Given the description of an element on the screen output the (x, y) to click on. 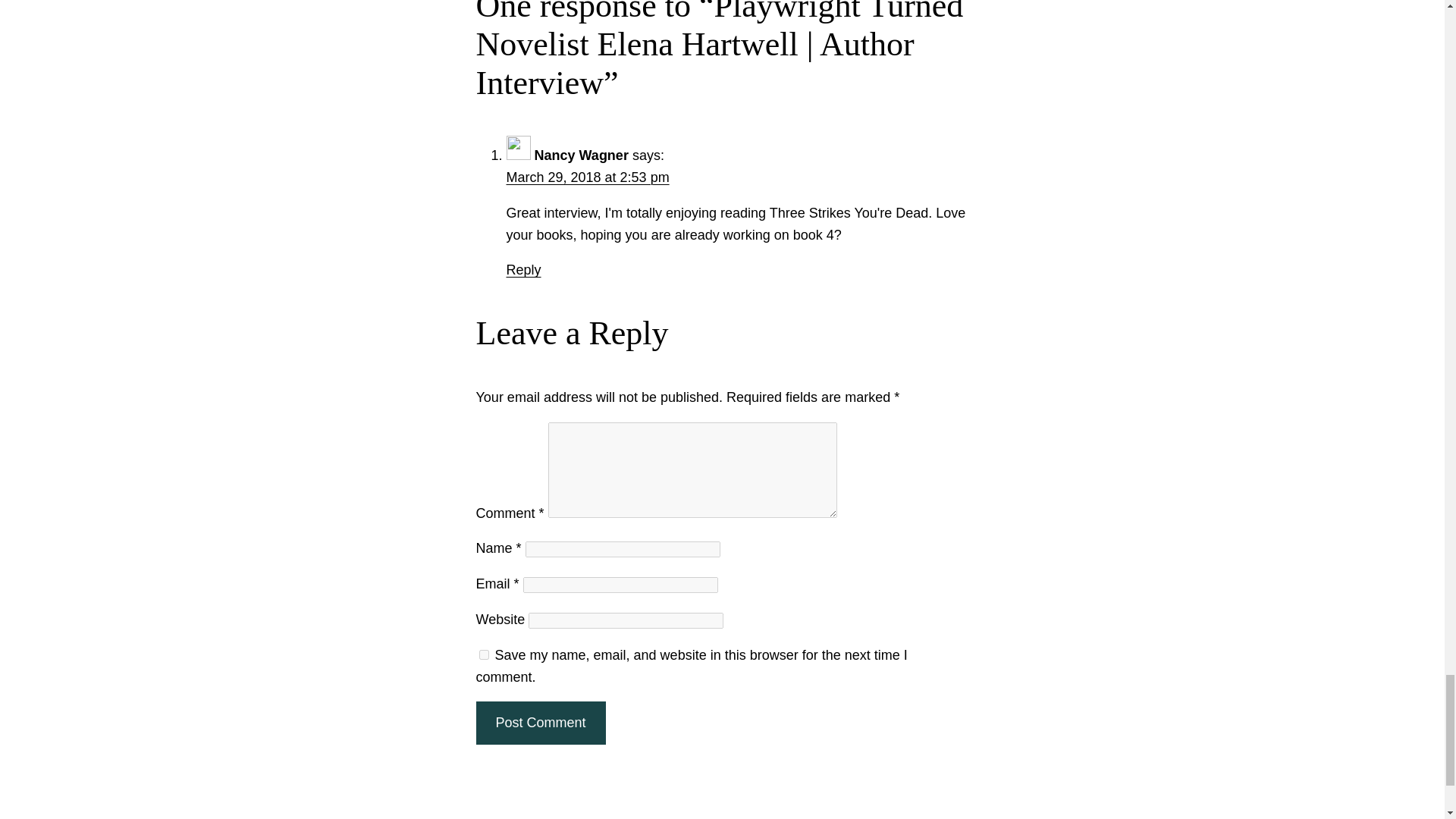
Post Comment (540, 722)
Reply (523, 269)
March 29, 2018 at 2:53 pm (587, 177)
yes (484, 655)
Post Comment (540, 722)
